Given the description of an element on the screen output the (x, y) to click on. 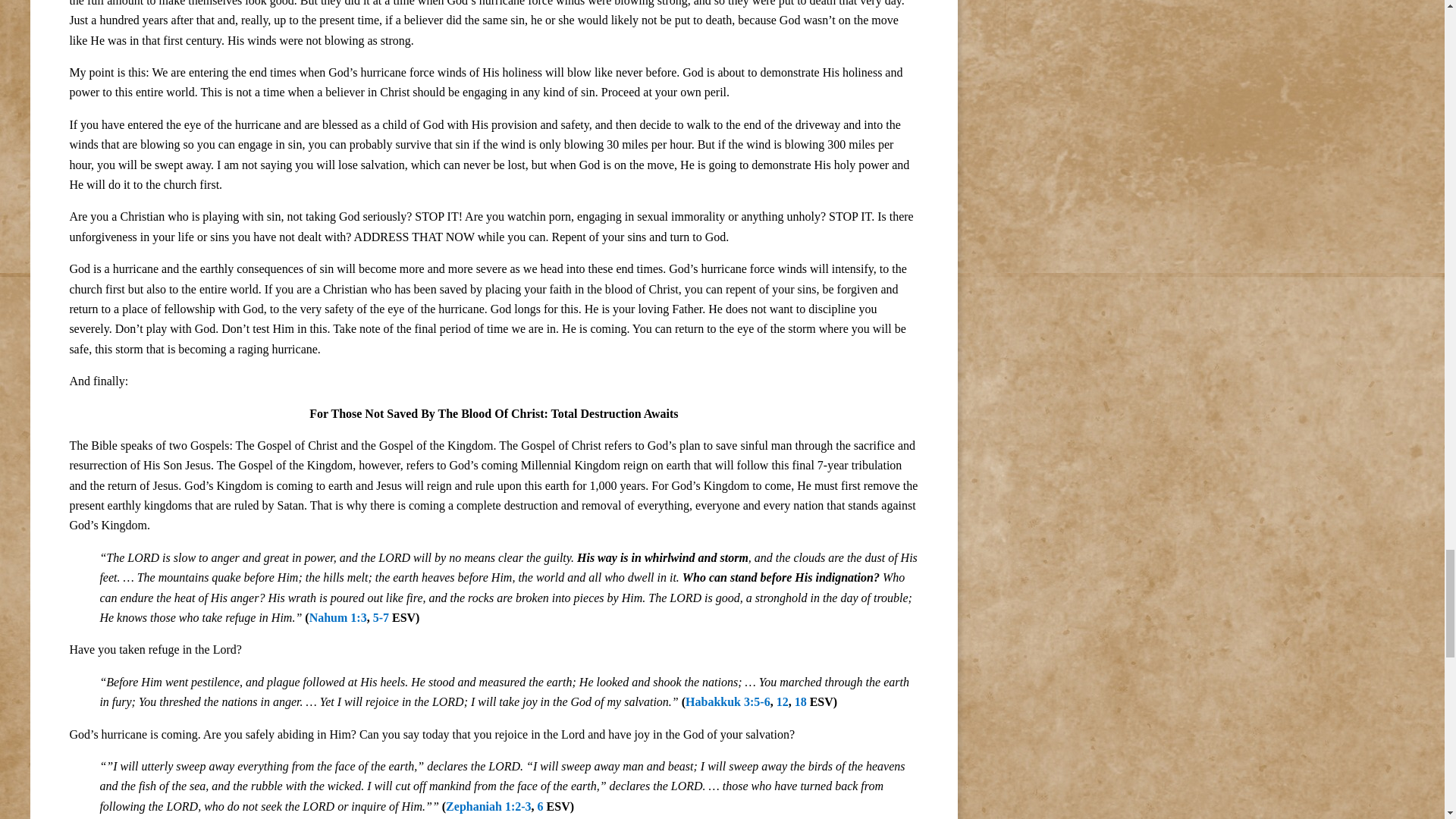
5-7 (380, 617)
12 (782, 701)
Nahum 1:3 (337, 617)
18 (800, 701)
Zephaniah 1:2-3 (488, 806)
Habakkuk 3:5-6 (727, 701)
